Given the description of an element on the screen output the (x, y) to click on. 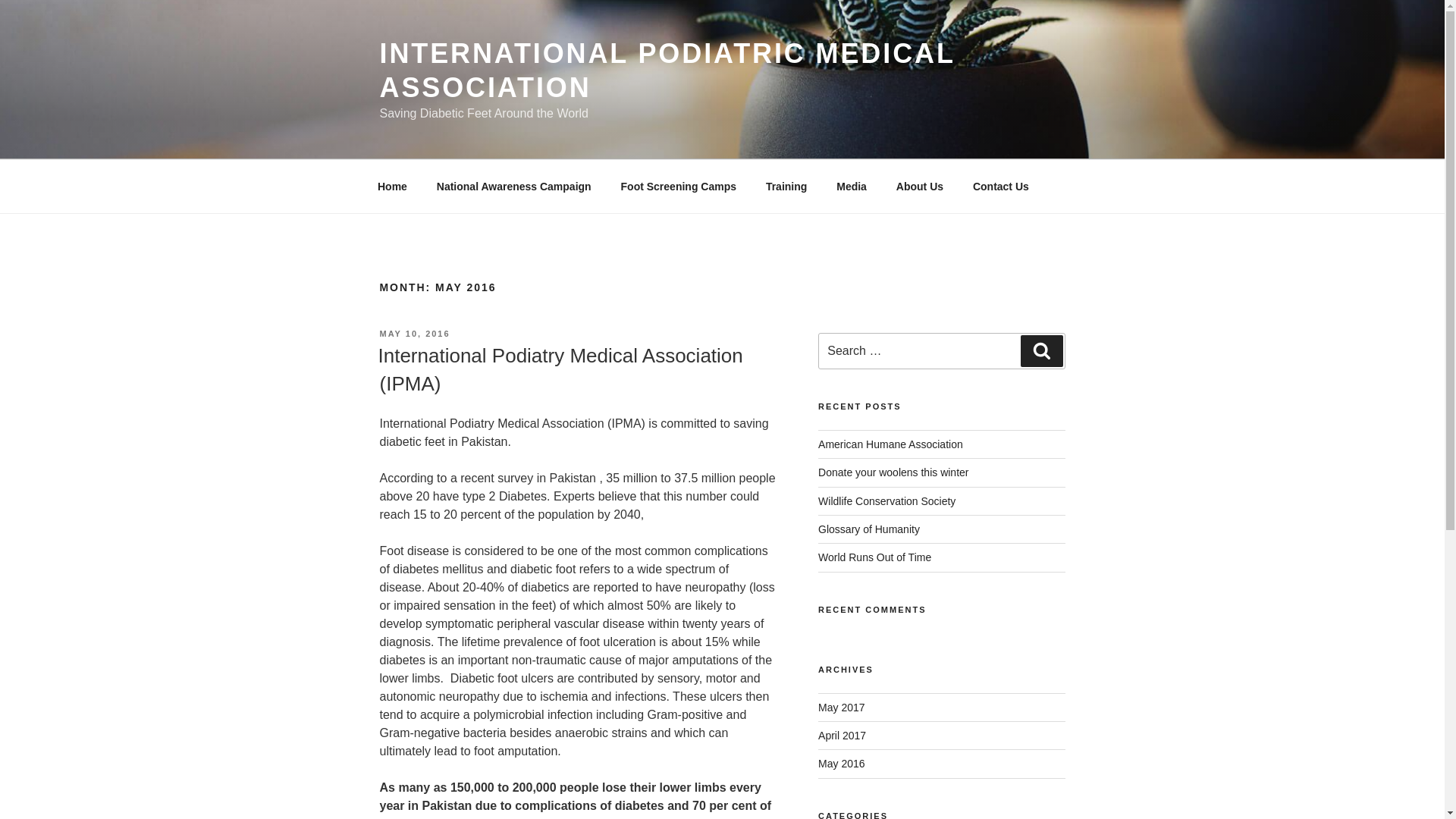
Training (785, 186)
American Humane Association (890, 444)
May 2016 (841, 763)
Wildlife Conservation Society (886, 500)
Search (1041, 350)
Glossary of Humanity (869, 529)
World Runs Out of Time (874, 557)
Home (392, 186)
Media (852, 186)
MAY 10, 2016 (413, 333)
